Given the description of an element on the screen output the (x, y) to click on. 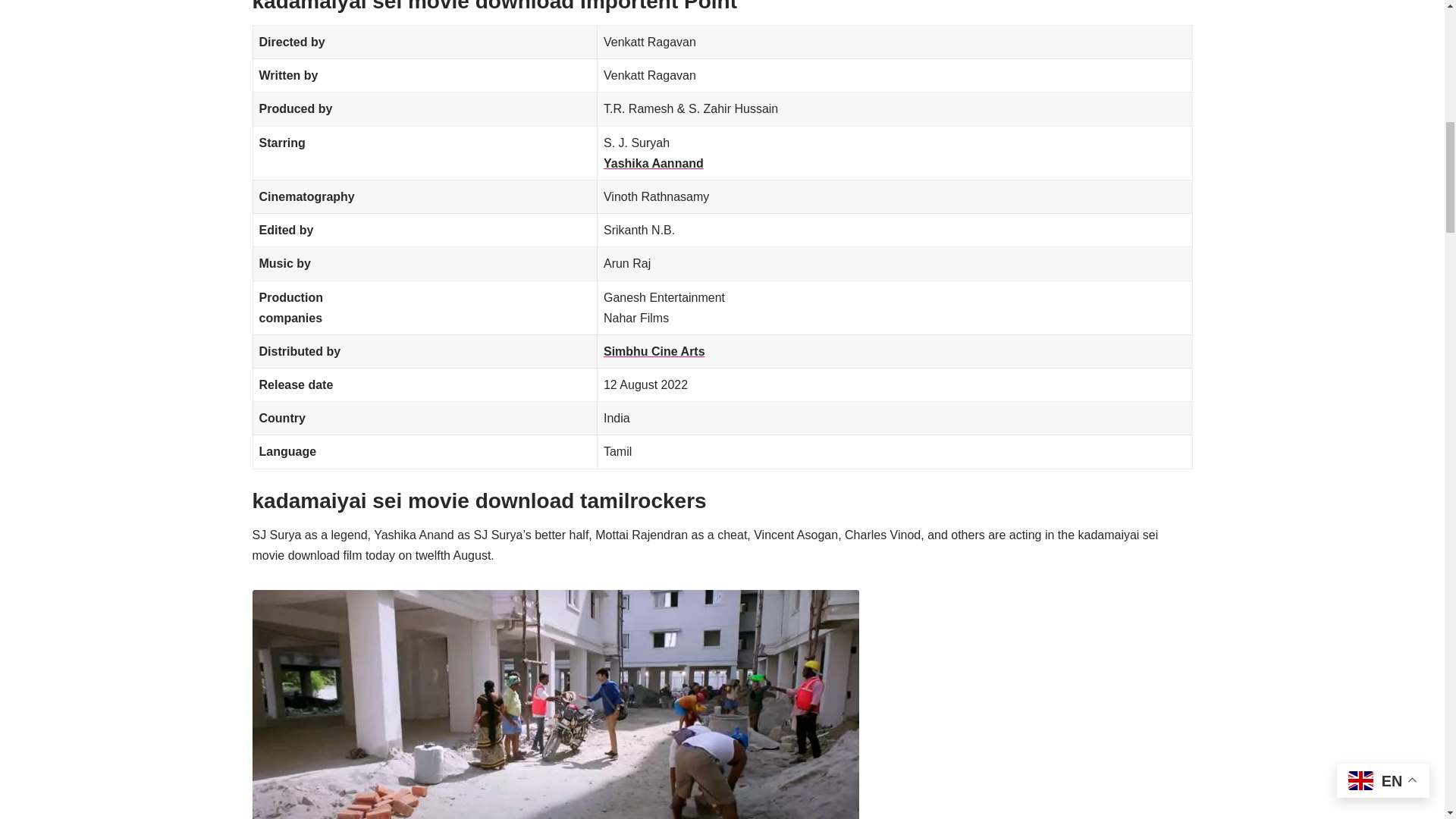
Yashika Aannand (653, 163)
Simbhu Cine Arts (654, 350)
